Given the description of an element on the screen output the (x, y) to click on. 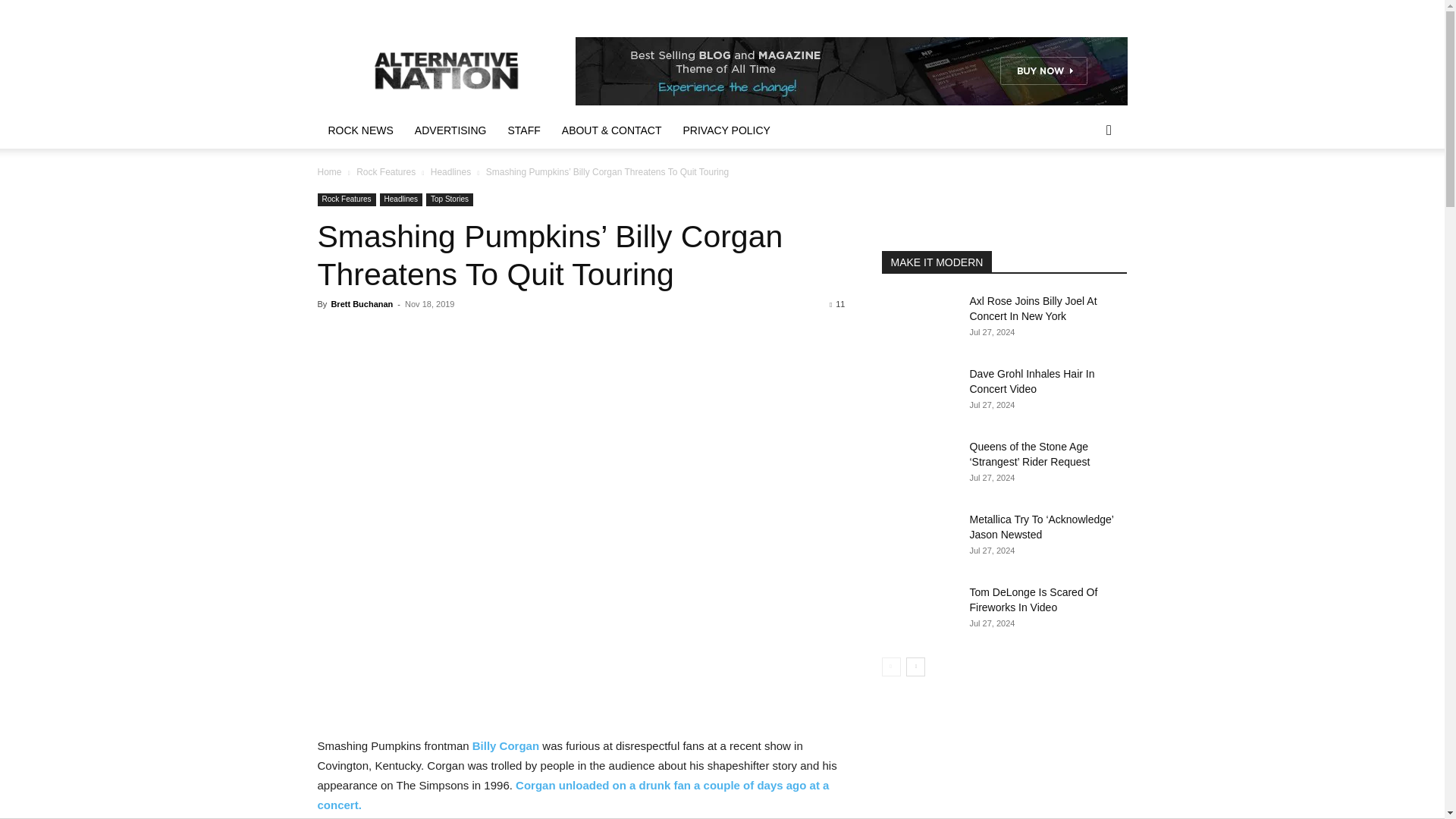
Headlines (450, 172)
Billy Corgan (504, 745)
View all posts in Rock Features (385, 172)
View all posts in Headlines (450, 172)
Home (328, 172)
STAFF (524, 130)
Rock Features (346, 199)
Rock Features (385, 172)
Top Stories (449, 199)
Search (1085, 191)
ROCK NEWS (360, 130)
ADVERTISING (450, 130)
PRIVACY POLICY (726, 130)
11 (837, 303)
